Given the description of an element on the screen output the (x, y) to click on. 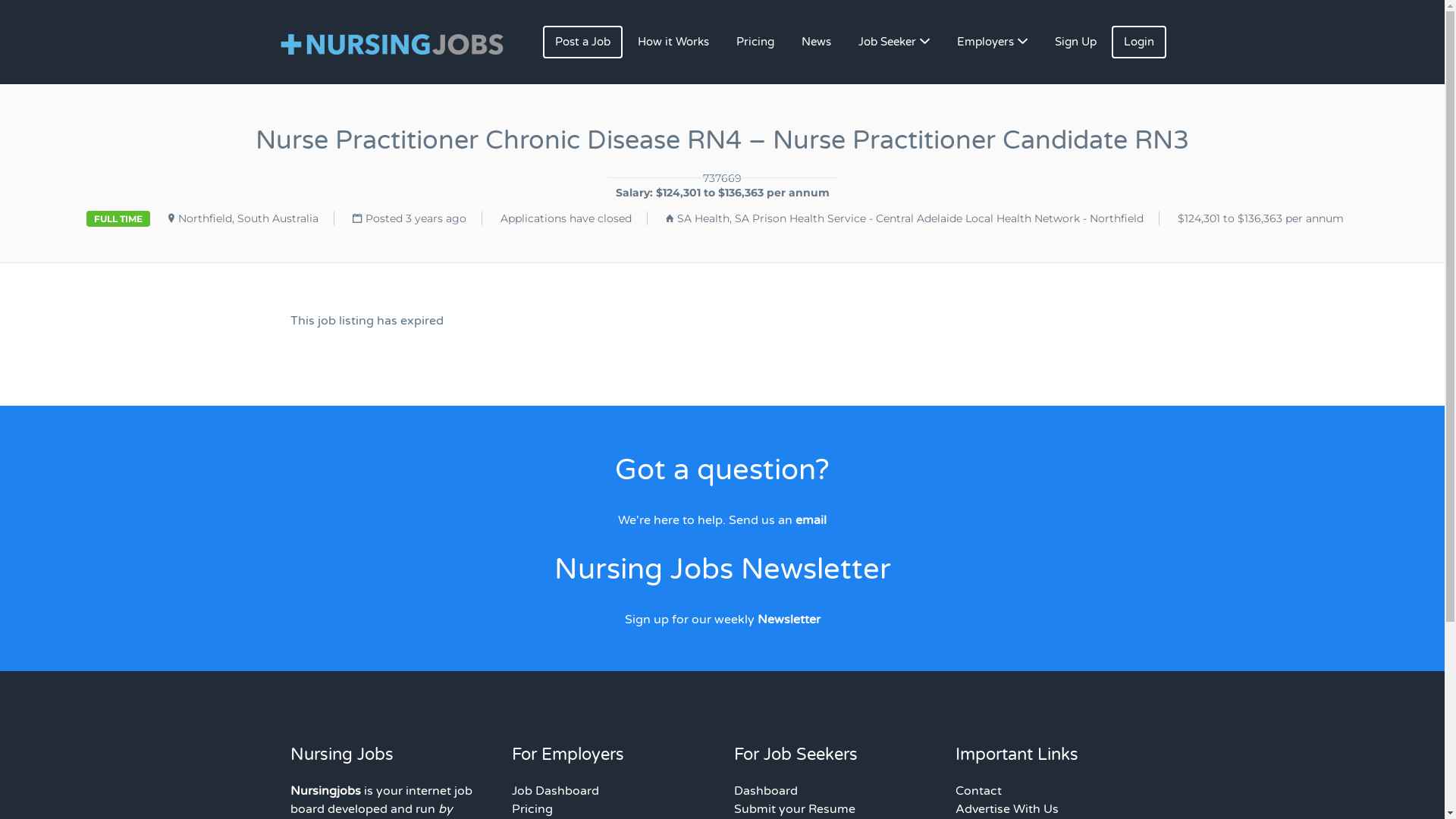
Login Element type: text (1138, 41)
email Element type: text (810, 519)
Newsletter Element type: text (787, 619)
Dashboard Element type: text (765, 790)
News Element type: text (815, 41)
Advertise With Us Element type: text (1006, 808)
How it Works Element type: text (672, 41)
Contact Element type: text (978, 790)
Pricing Element type: text (531, 808)
Sign Up Element type: text (1074, 41)
NURSING JOBS AUSTRALIA Element type: text (406, 41)
Submit your Resume Element type: text (794, 808)
Employers Element type: text (991, 41)
Northfield, South Australia Element type: text (247, 218)
Job Dashboard Element type: text (555, 790)
Pricing Element type: text (754, 41)
Job Seeker Element type: text (893, 41)
Post a Job Element type: text (582, 41)
